Given the description of an element on the screen output the (x, y) to click on. 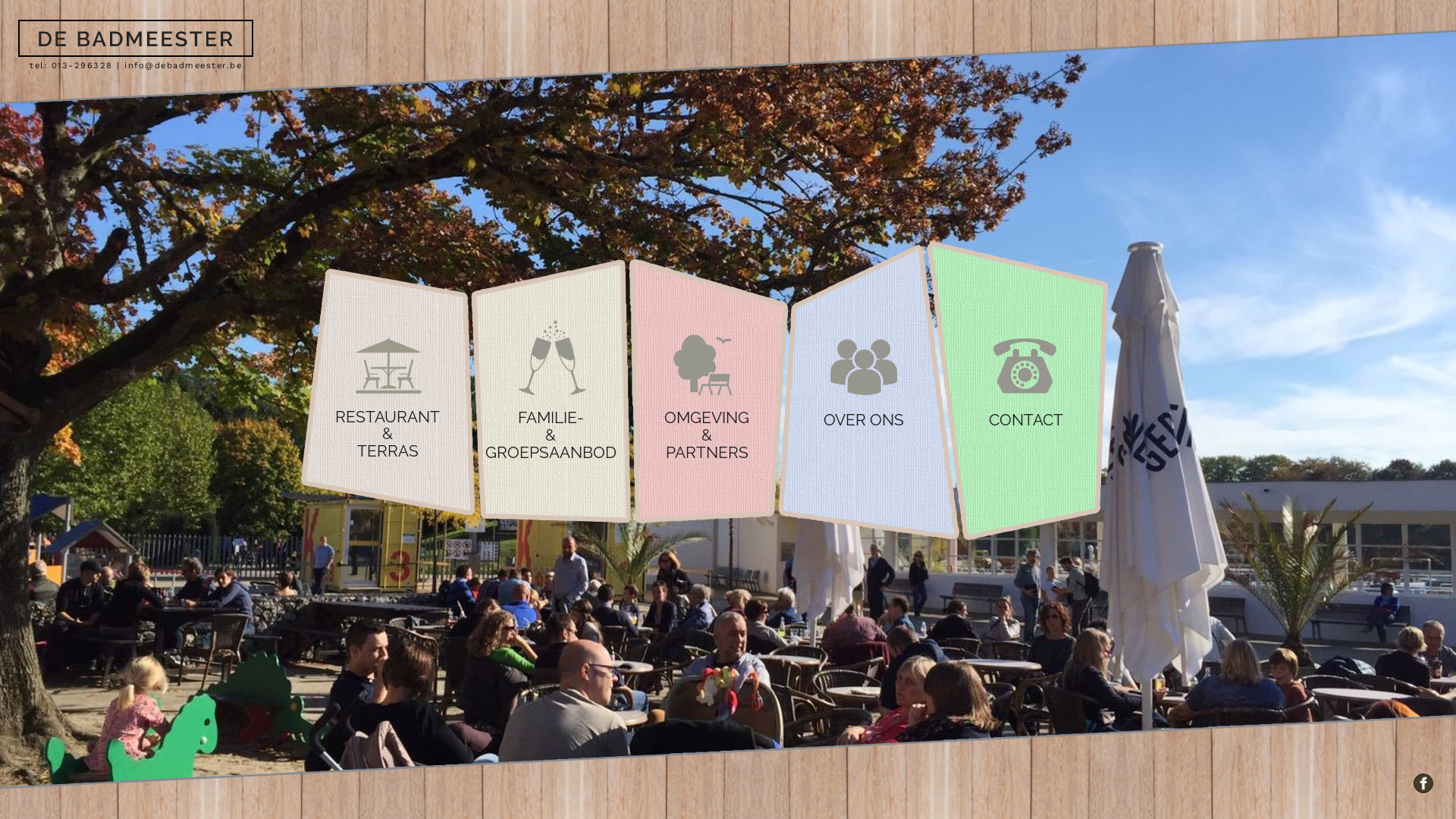
RESTAURANT
&
TERRAS Element type: text (387, 390)
info@debadmeester.be Element type: text (182, 65)
OVER ONS Element type: text (868, 391)
tel: 013-296328 | info@debadmeester.be Element type: text (135, 37)
FAMILIE-
&
GROEPSAANBOD Element type: text (550, 391)
OMGEVING
&
PARTNERS Element type: text (708, 391)
CONTACT Element type: text (1016, 390)
